Given the description of an element on the screen output the (x, y) to click on. 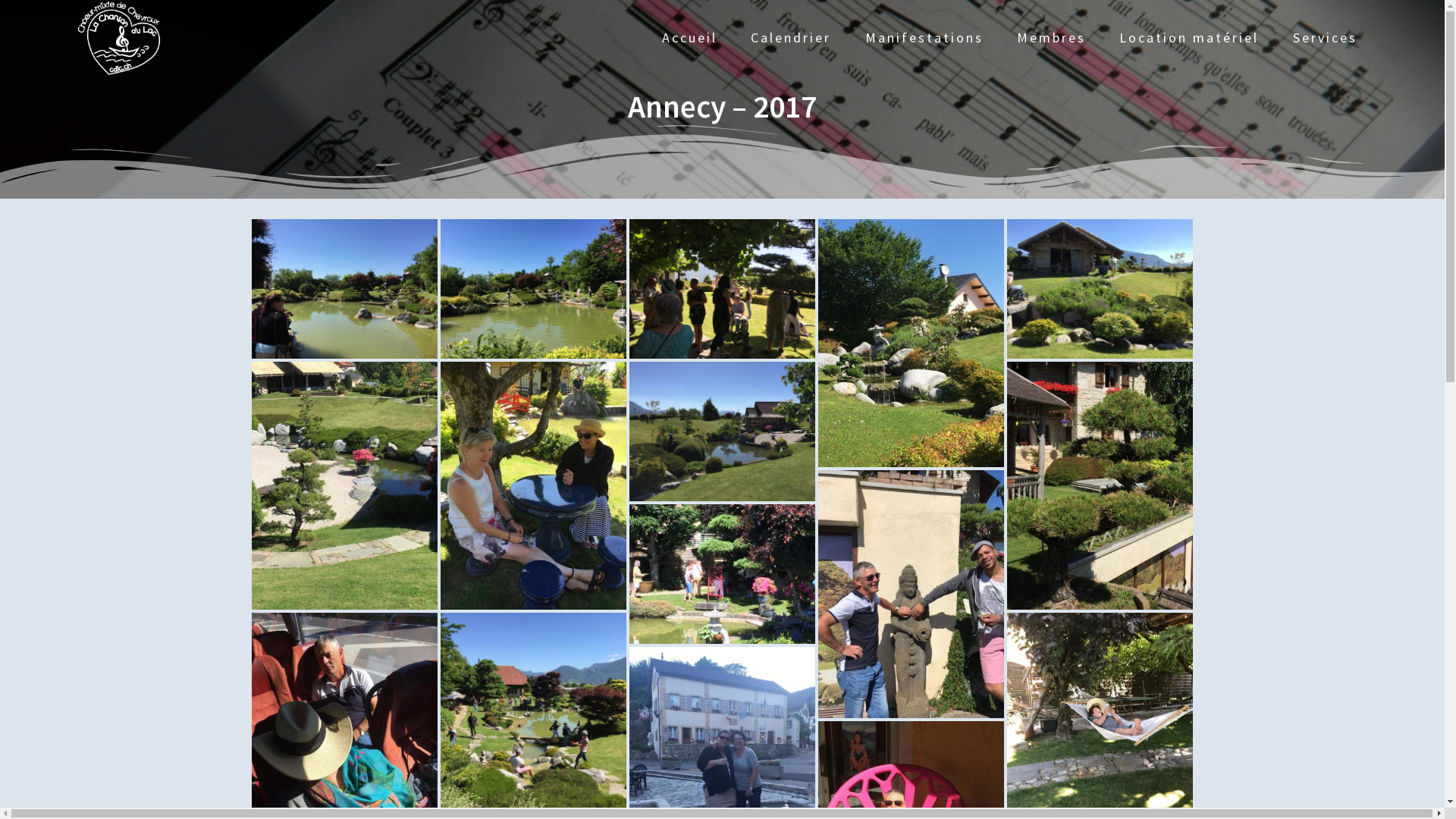
Services Element type: text (1324, 37)
Manifestations Element type: text (924, 37)
Membres Element type: text (1050, 37)
Accueil Element type: text (689, 37)
Calendrier Element type: text (790, 37)
